Given the description of an element on the screen output the (x, y) to click on. 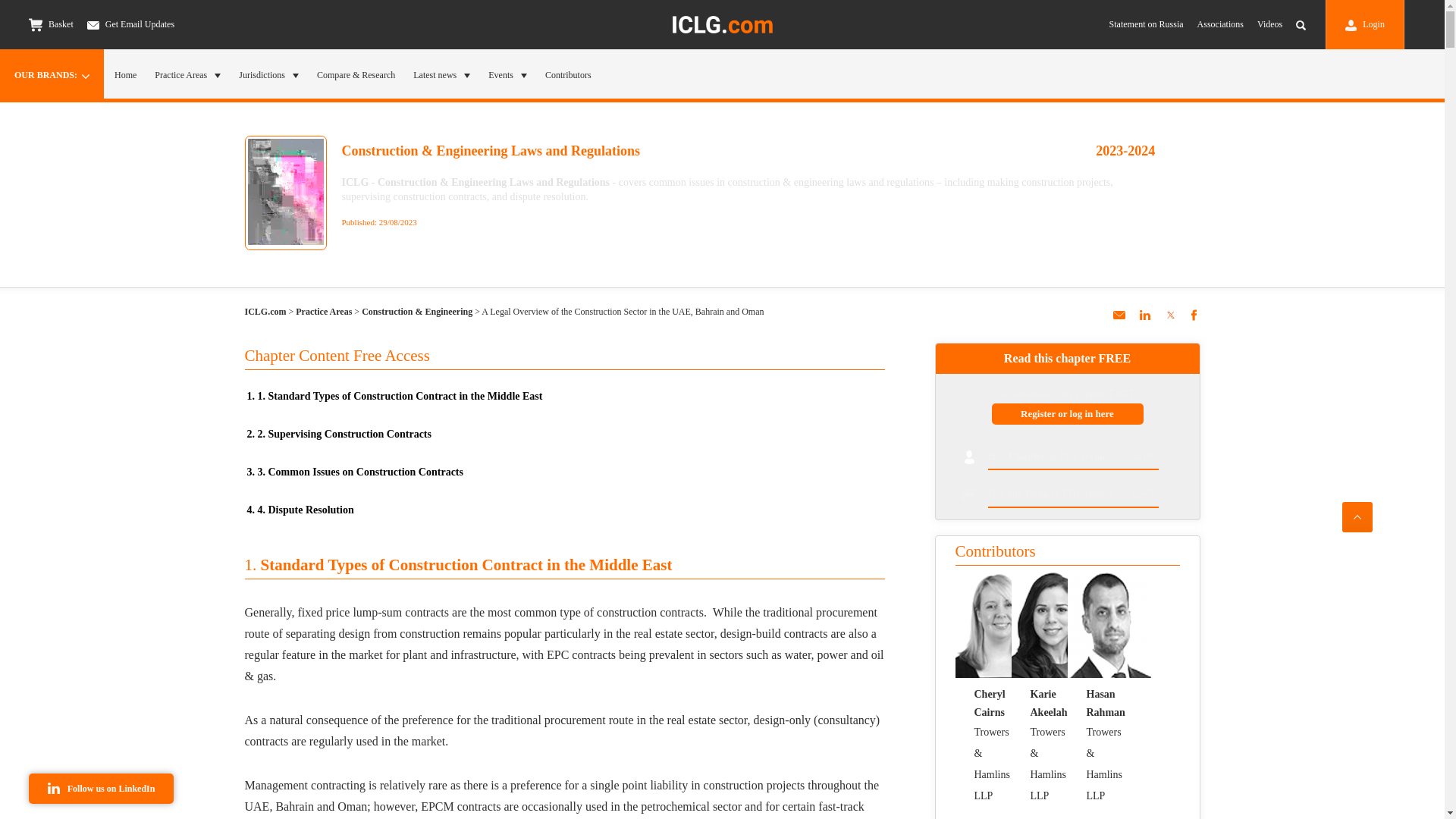
View basket (35, 24)
Login (1364, 24)
Latest news (441, 74)
Statement on Russia (1146, 24)
Jurisdictions (268, 74)
Practice Areas (187, 74)
Associations (1219, 24)
OUR BRANDS: (51, 74)
Basket (51, 24)
Get Email Updates (130, 24)
